Given the description of an element on the screen output the (x, y) to click on. 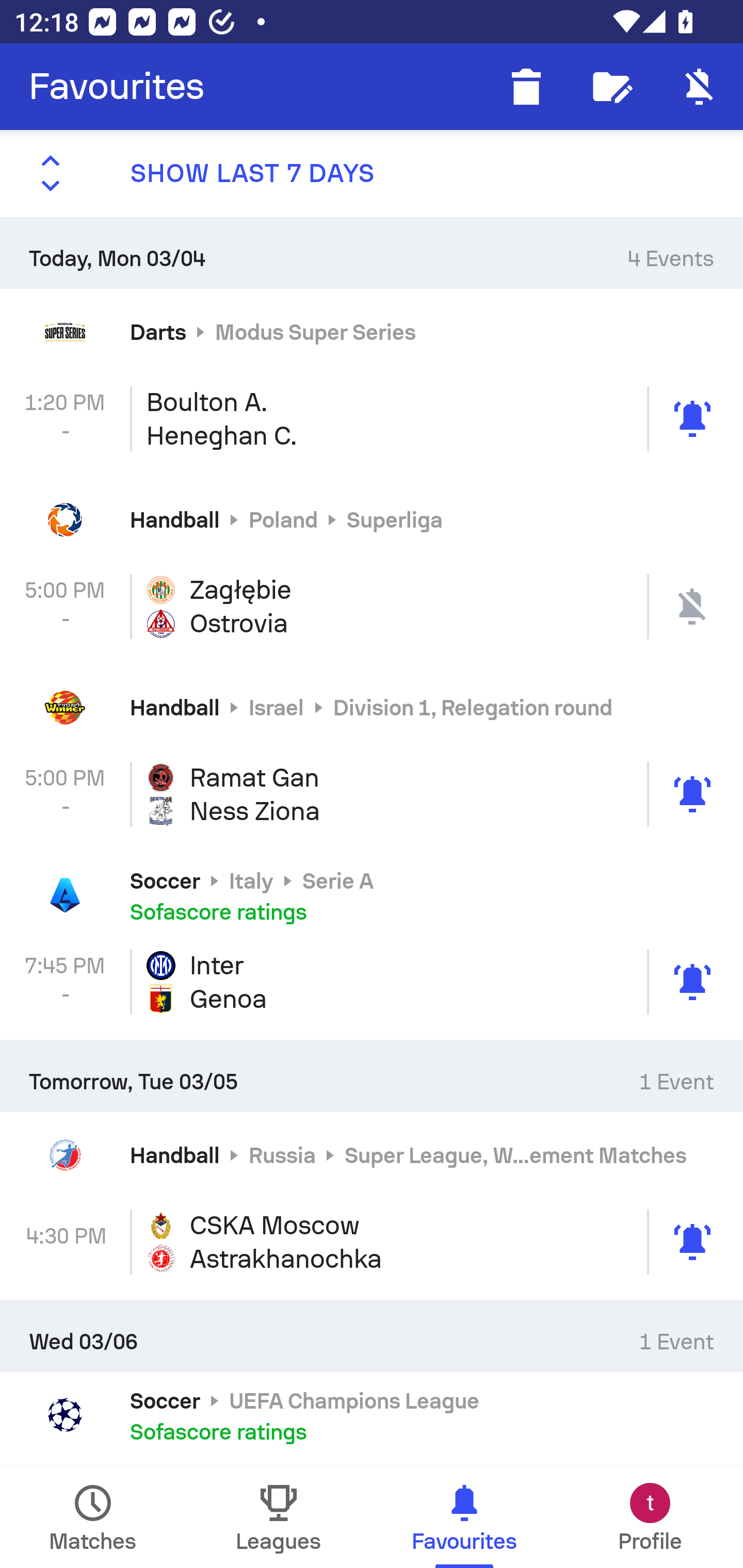
Favourites (116, 86)
Delete finished (525, 86)
Follow editor (612, 86)
Enable notifications (699, 86)
SHOW LAST 7 DAYS (371, 173)
Today, Mon 03/04 4 Events (371, 252)
Darts Modus Super Series (371, 331)
1:20 PM - Boulton A. Heneghan C. (371, 418)
Handball Poland Superliga (371, 519)
5:00 PM - Zagłębie Ostrovia (371, 605)
Handball Israel Division 1, Relegation round (371, 707)
5:00 PM - Ramat Gan Ness Ziona (371, 794)
Soccer Italy Serie A Sofascore ratings (371, 895)
7:45 PM - Inter Genoa (371, 982)
Tomorrow, Tue 03/05 1 Event (371, 1075)
4:30 PM CSKA Moscow Astrakhanochka (371, 1241)
Wed 03/06 1 Event (371, 1335)
Soccer UEFA Champions League Sofascore ratings (371, 1415)
Matches (92, 1517)
Leagues (278, 1517)
Profile (650, 1517)
